Given the description of an element on the screen output the (x, y) to click on. 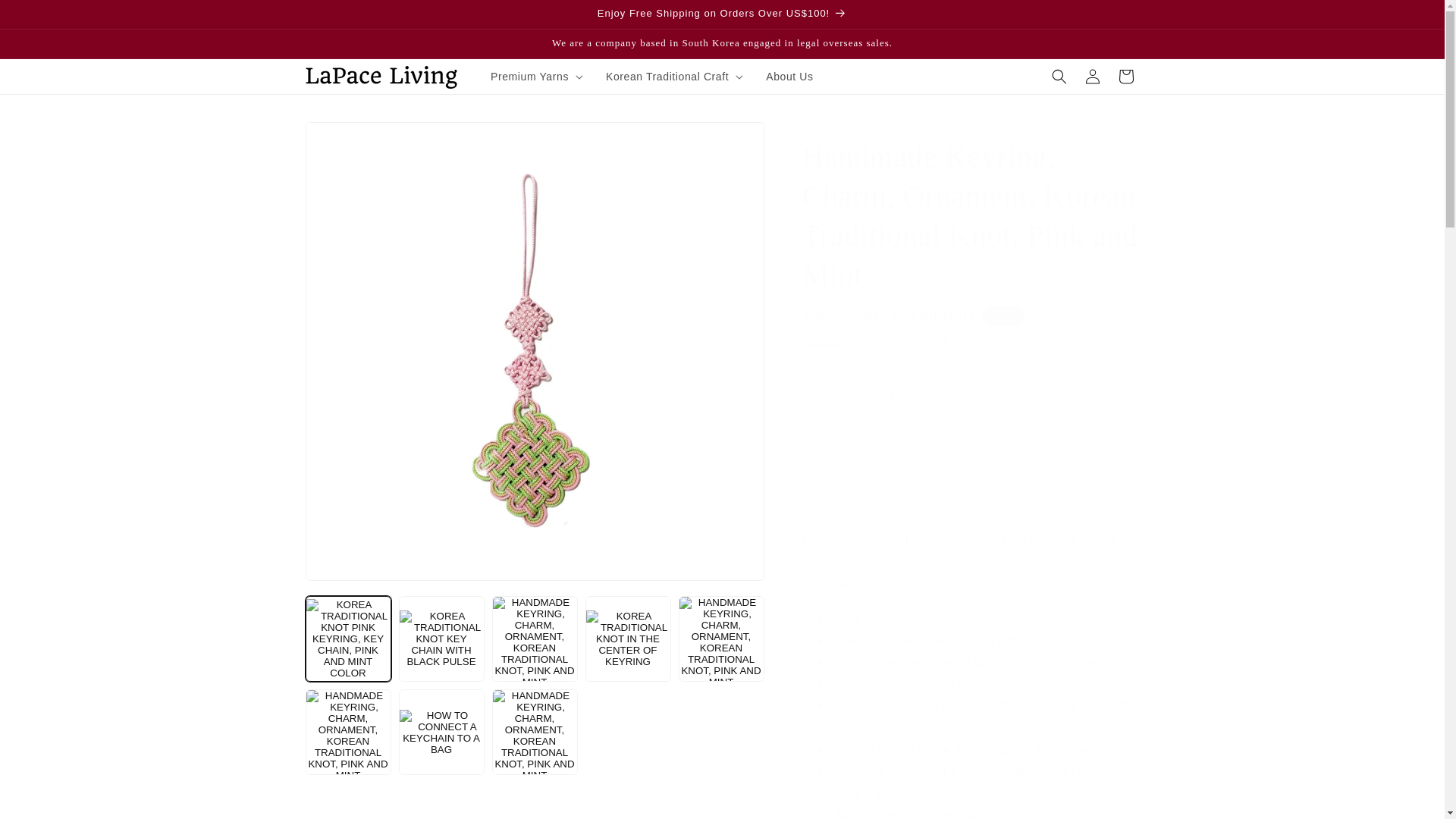
SKIP TO CONTENT (45, 17)
SKIP TO PRODUCT INFORMATION (350, 139)
Log in (1091, 76)
About Us (789, 76)
Cart (1124, 76)
1 (856, 395)
